Given the description of an element on the screen output the (x, y) to click on. 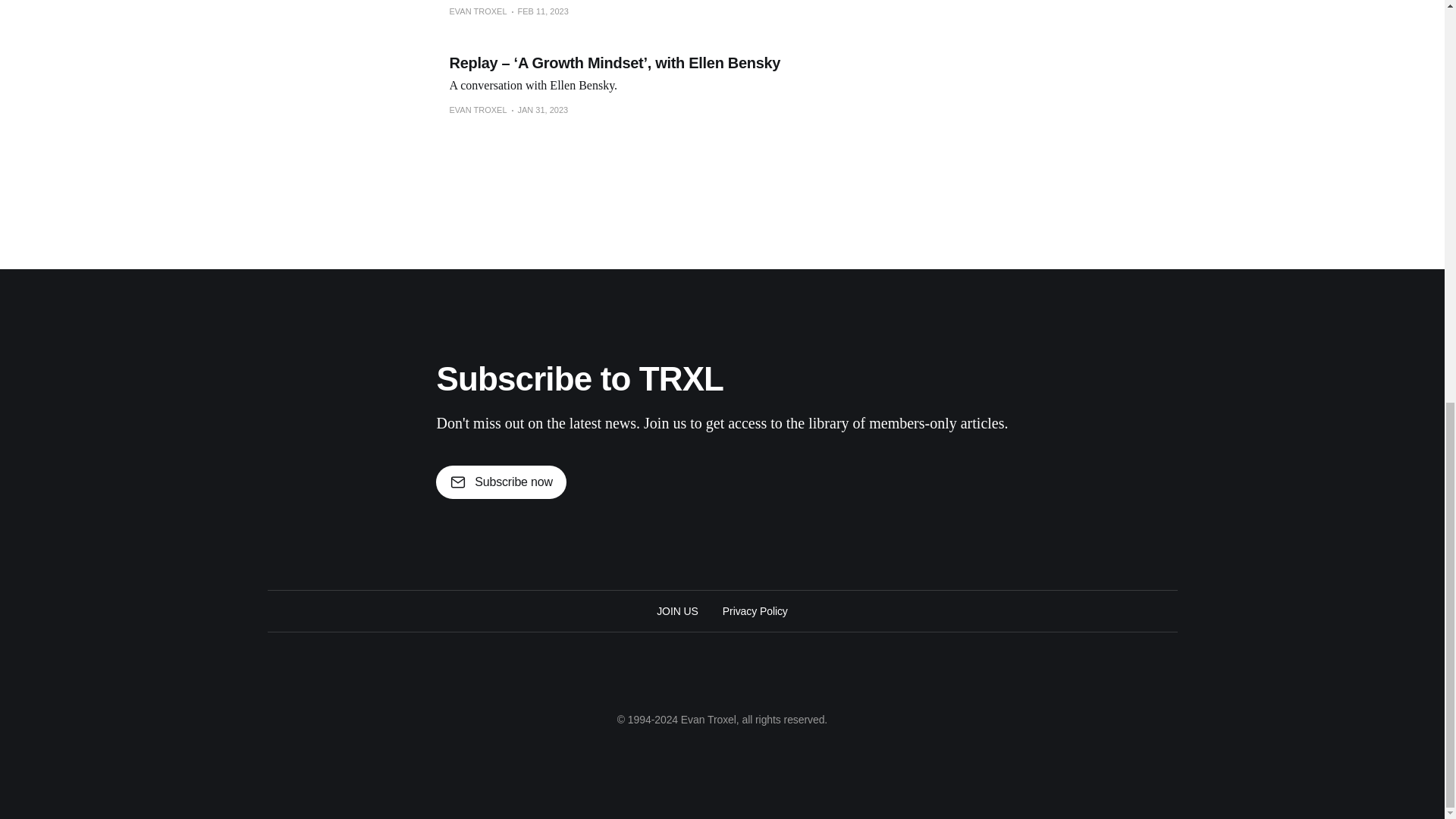
JOIN US (677, 610)
Privacy Policy (754, 610)
Subscribe now (500, 482)
